Given the description of an element on the screen output the (x, y) to click on. 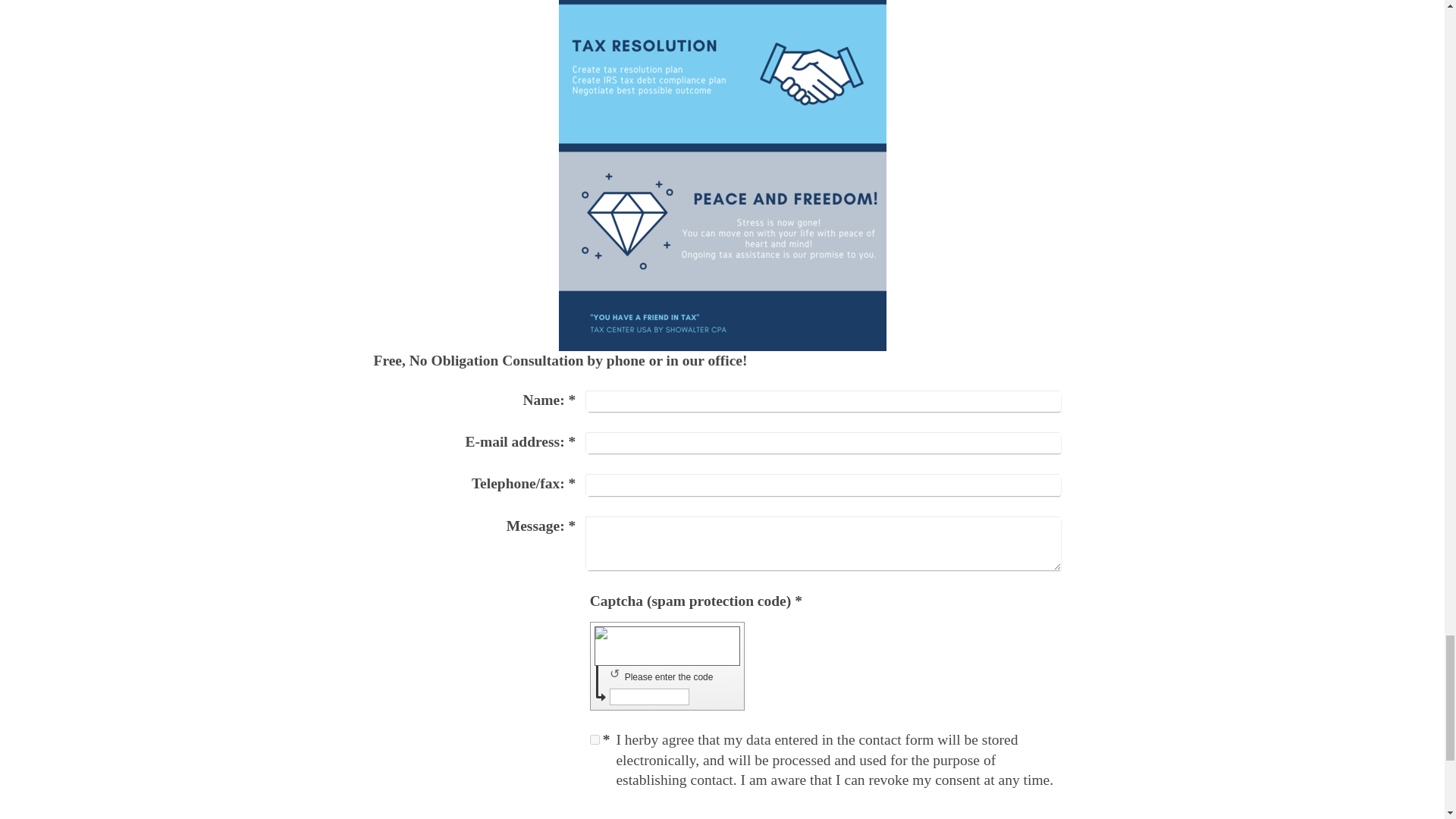
Generate new code (617, 672)
on (594, 739)
